Given the description of an element on the screen output the (x, y) to click on. 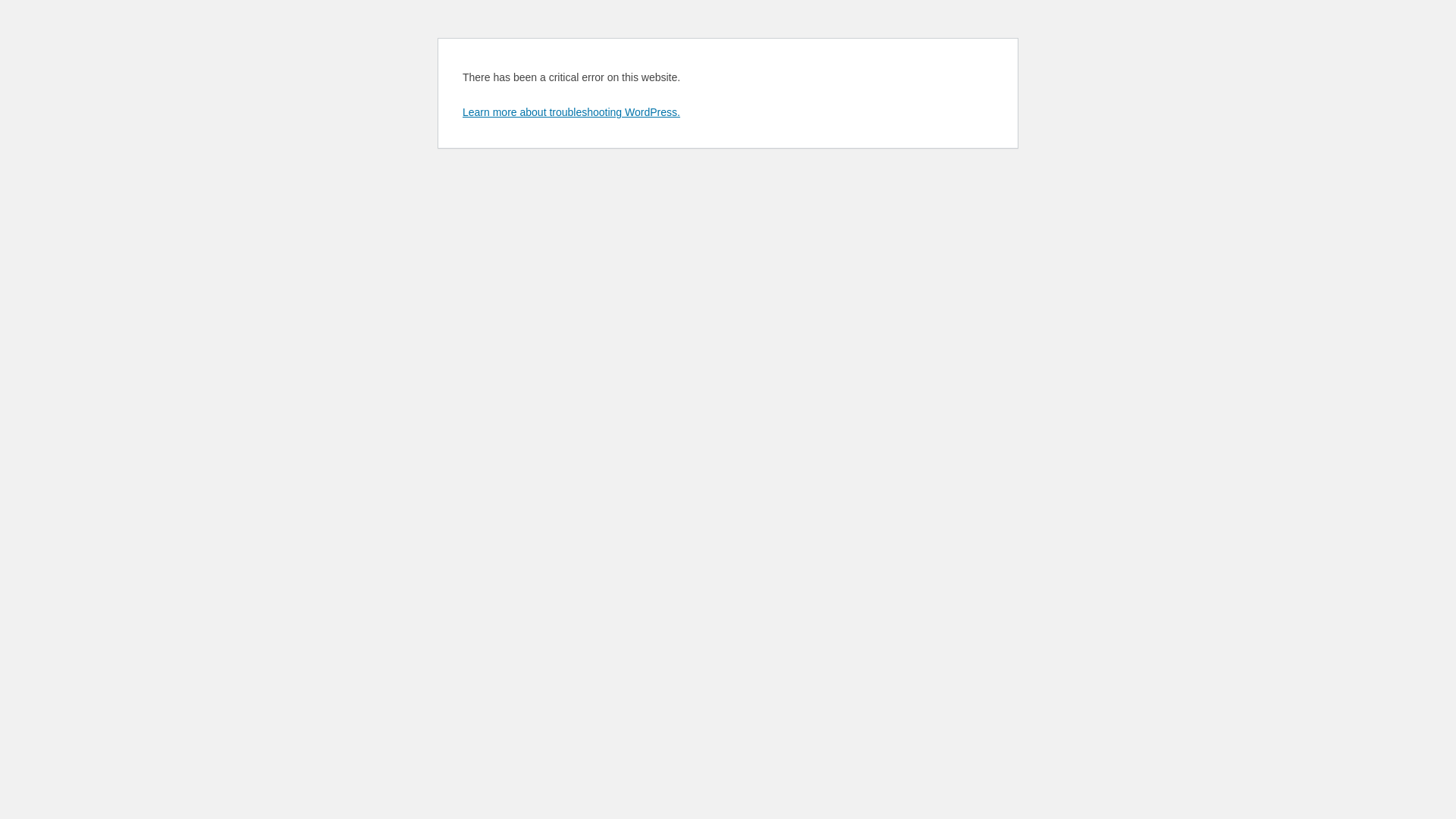
Learn more about troubleshooting WordPress. Element type: text (571, 112)
